Given the description of an element on the screen output the (x, y) to click on. 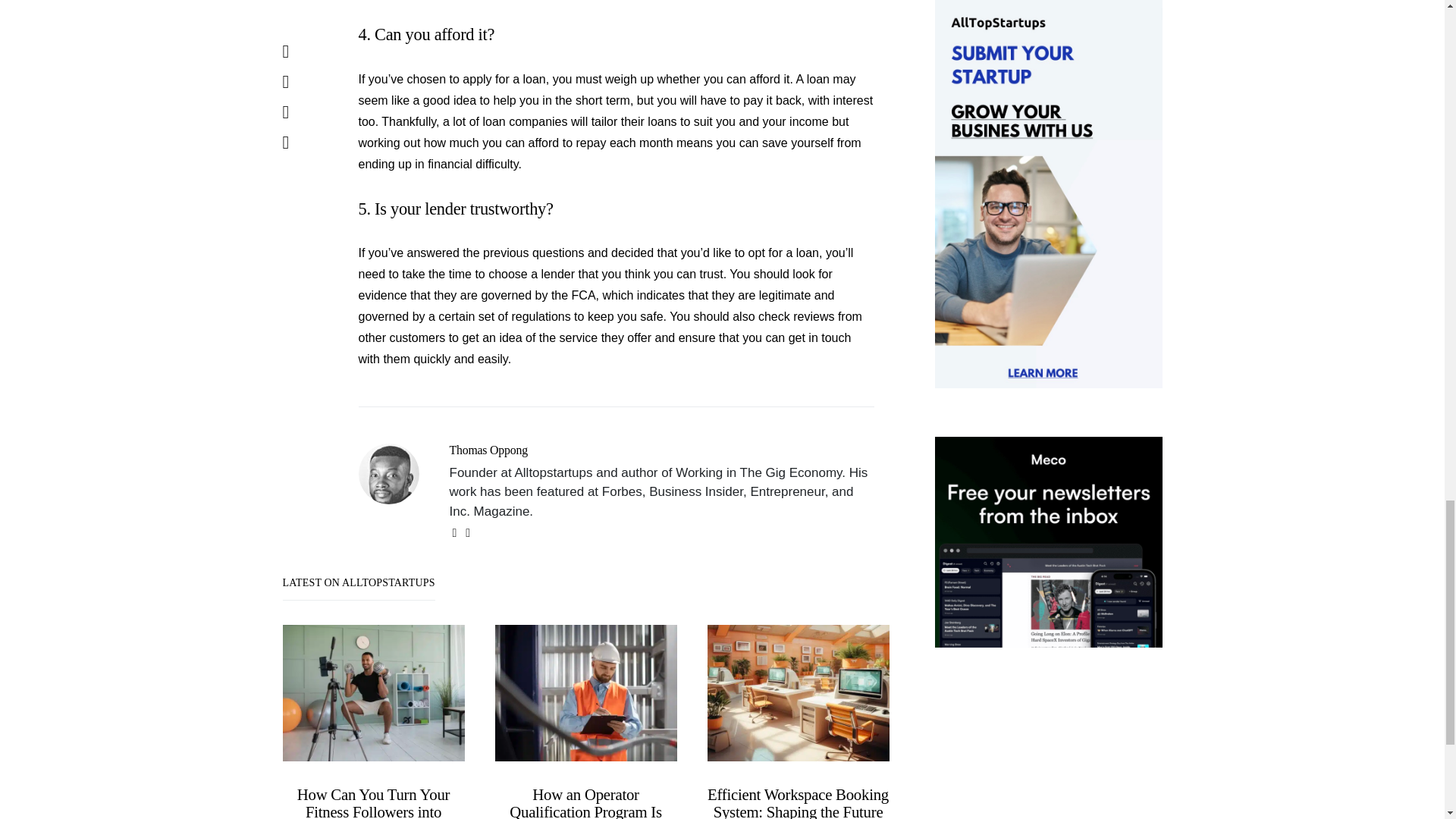
Thomas Oppong (487, 449)
